Given the description of an element on the screen output the (x, y) to click on. 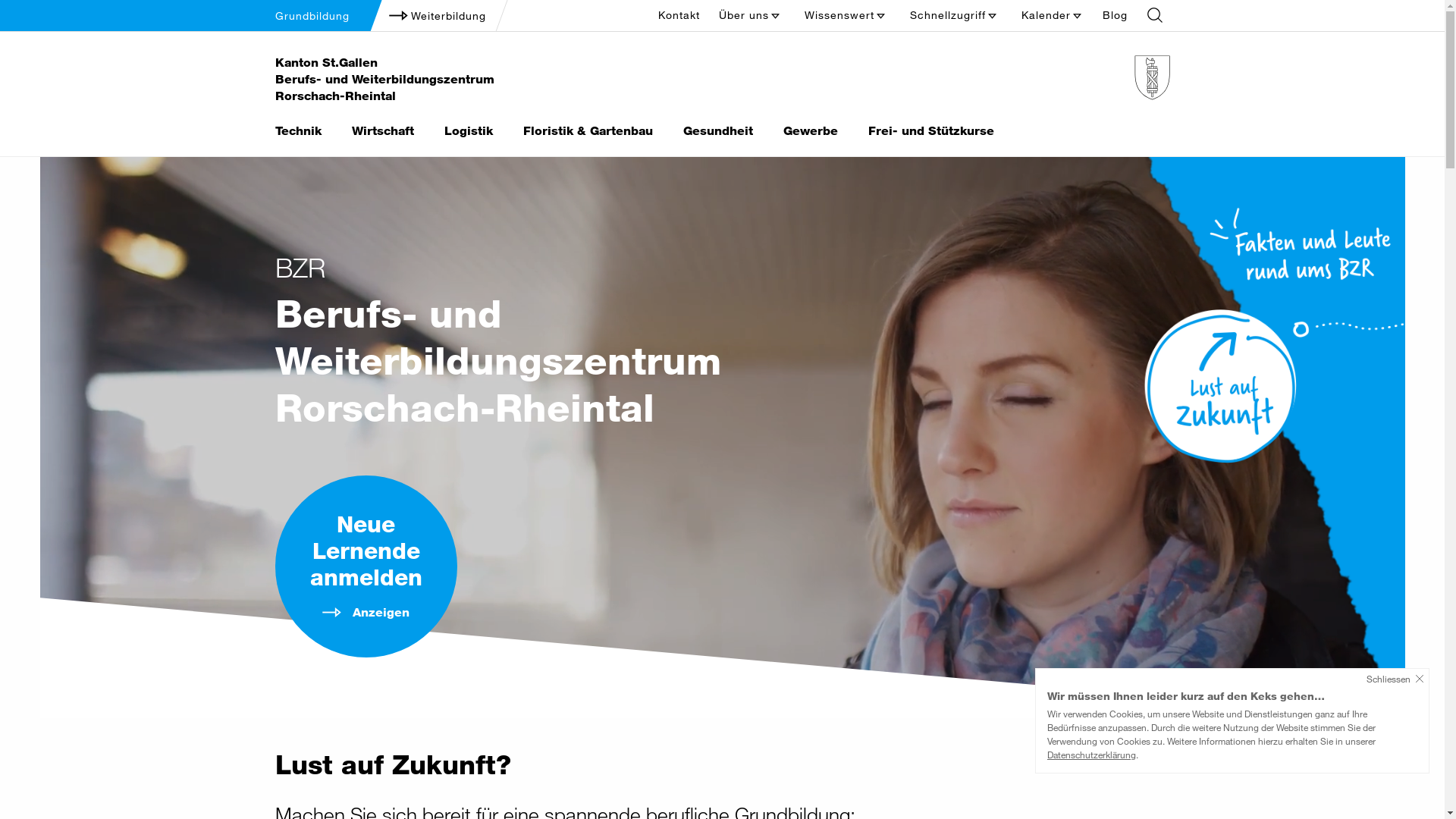
Berufsbildungszentrum Rorschach-Rheintal Element type: hover (873, 77)
Logistik Element type: text (468, 131)
Weiterbildung Element type: text (434, 15)
Neue
Lernende
anmelden
Anzeigen Element type: text (365, 566)
Wissenswert Element type: text (845, 15)
Grundbildung Element type: text (311, 15)
Next Element type: text (721, 429)
Gewerbe Element type: text (809, 131)
Wirtschaft Element type: text (382, 131)
Kontakt Element type: text (682, 15)
Technik Element type: text (297, 131)
Floristik & Gartenbau Element type: text (587, 131)
Schnellzugriff Element type: text (953, 15)
Kalender Element type: text (1052, 15)
Blog Element type: text (1117, 15)
Gesundheit Element type: text (717, 131)
